Given the description of an element on the screen output the (x, y) to click on. 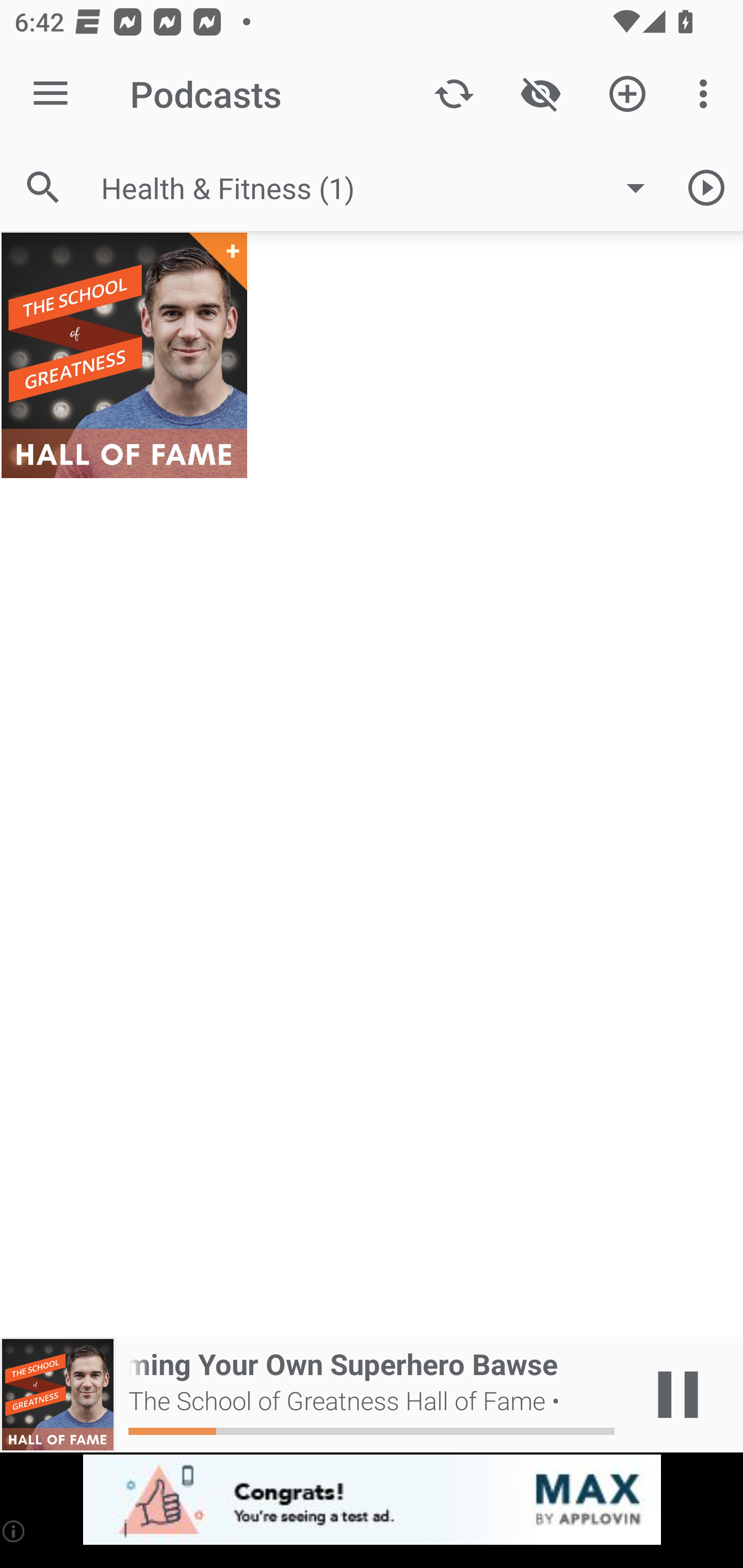
Open navigation sidebar (50, 93)
Update (453, 93)
Show / Hide played content (540, 93)
Add new Podcast (626, 93)
More options (706, 93)
Search (43, 187)
Health & Fitness (1) (382, 188)
The School of Greatness Hall of Fame + (124, 355)
Play / Pause (677, 1394)
app-monetization (371, 1500)
(i) (14, 1531)
